Given the description of an element on the screen output the (x, y) to click on. 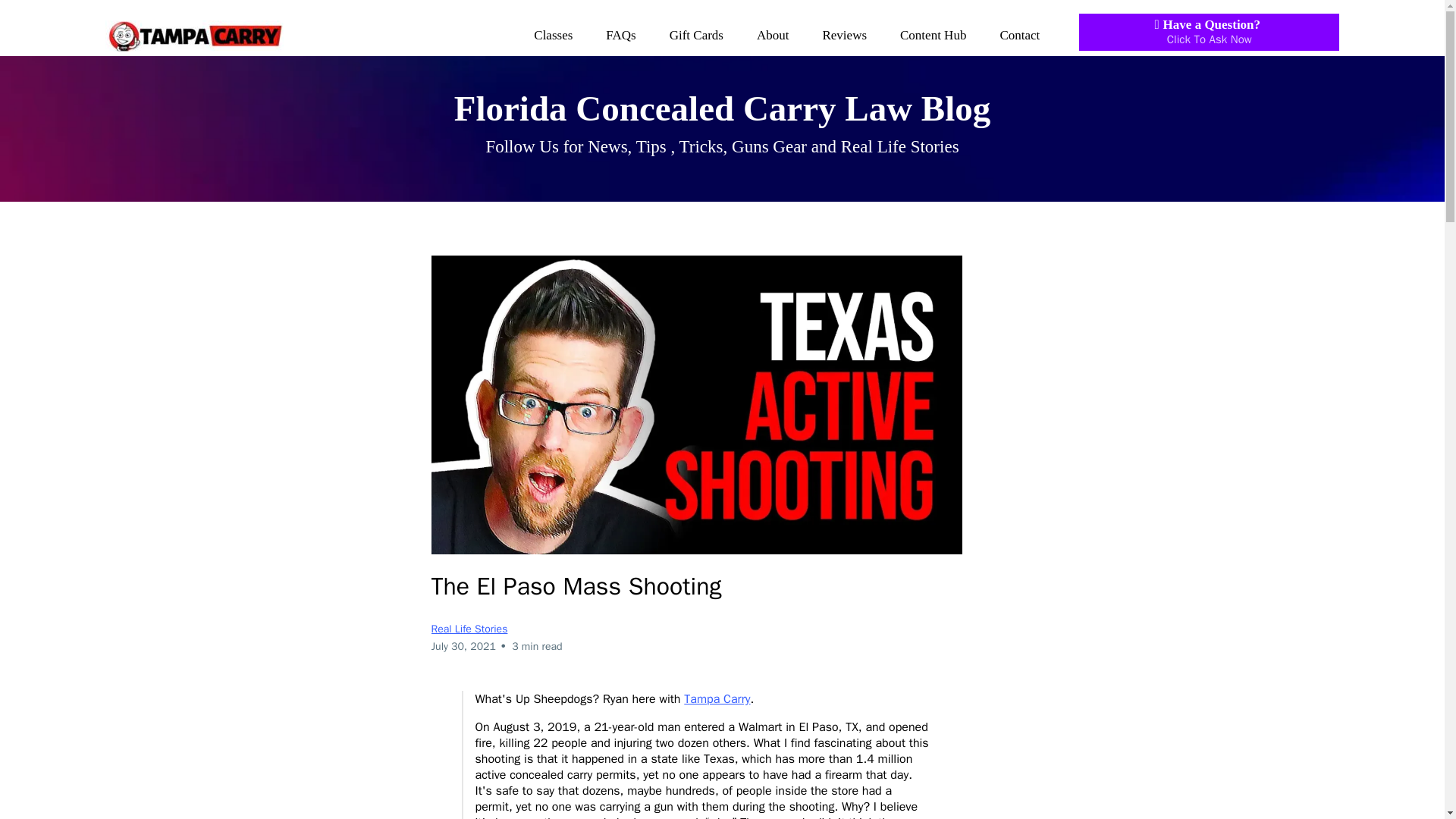
Contact (1019, 35)
Tampa Carry (716, 698)
Reviews (844, 35)
FAQs (1208, 31)
Classes (620, 35)
Real Life Stories (552, 35)
Gift Cards (468, 628)
Content Hub (695, 35)
About (932, 35)
